Given the description of an element on the screen output the (x, y) to click on. 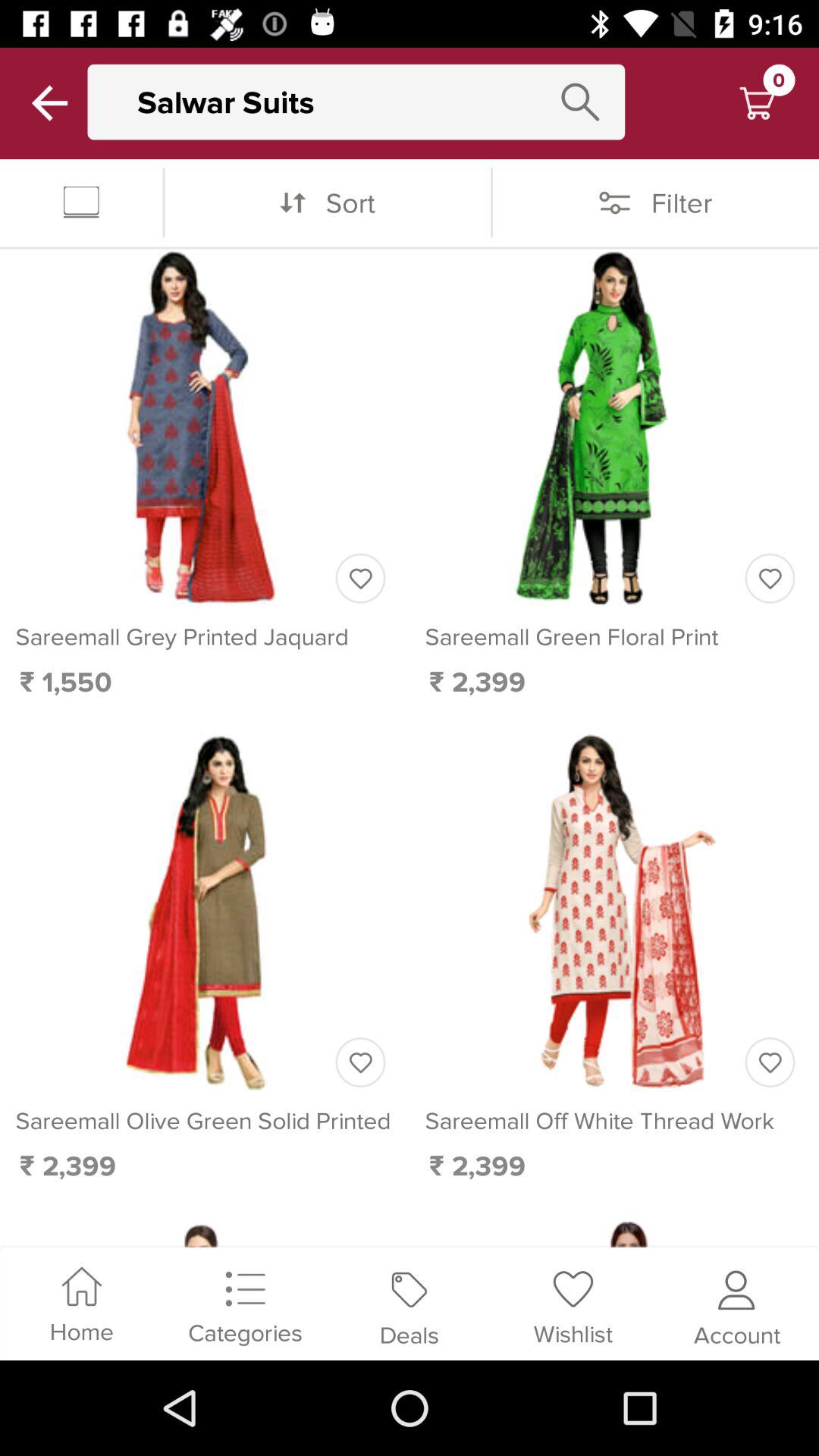
love item (360, 578)
